Given the description of an element on the screen output the (x, y) to click on. 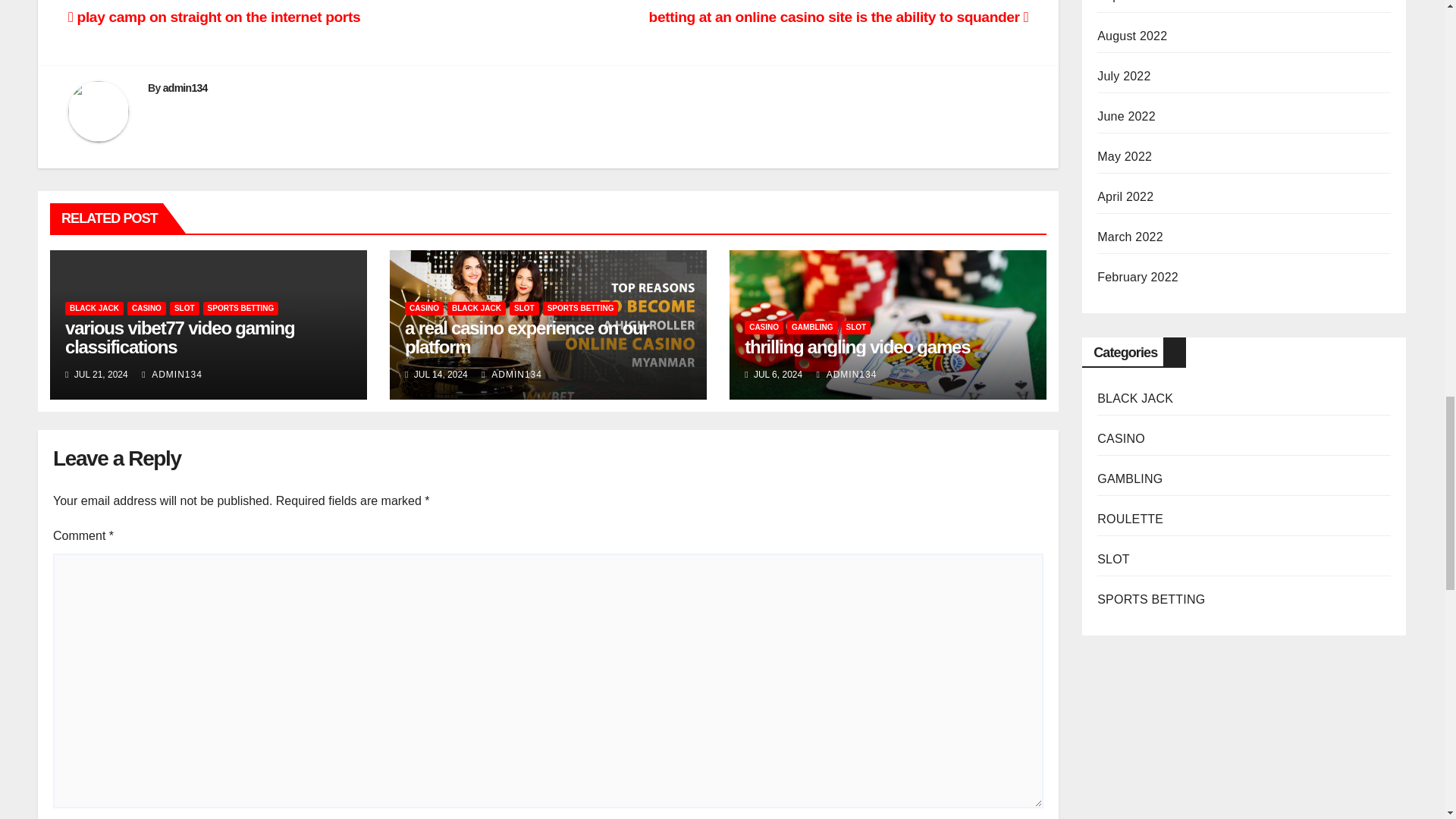
SPORTS BETTING (241, 308)
admin134 (185, 87)
Permalink to: a real casino experience on our platform (526, 337)
various vibet77 video gaming classifications (180, 337)
BLACK JACK (94, 308)
Permalink to: various vibet77 video gaming classifications (180, 337)
betting at an online casino site is the ability to squander (839, 17)
play camp on straight on the internet ports (213, 17)
SLOT (184, 308)
CASINO (146, 308)
Permalink to: thrilling angling video games (856, 346)
